Given the description of an element on the screen output the (x, y) to click on. 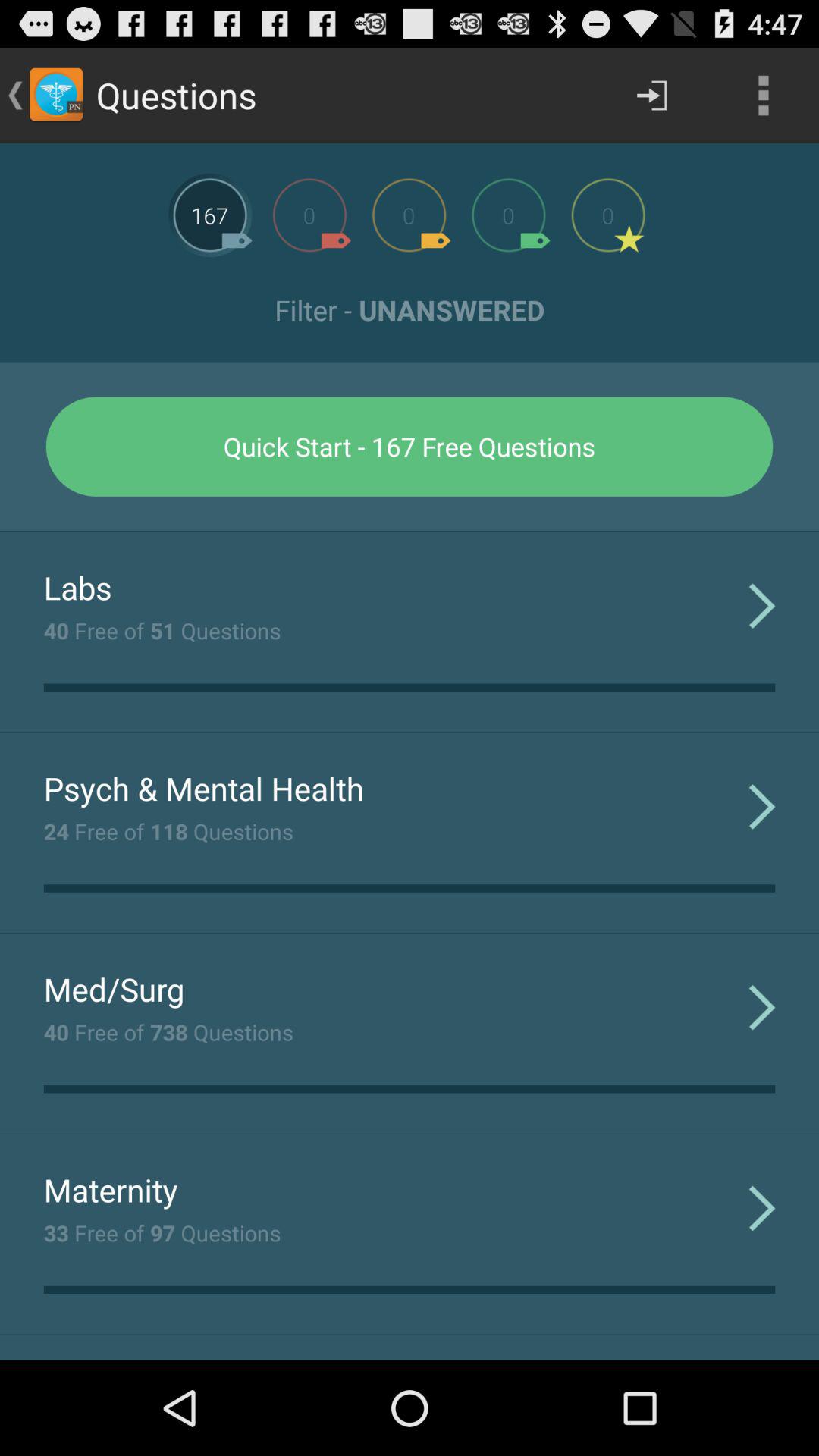
tap the icon above labs (409, 530)
